Given the description of an element on the screen output the (x, y) to click on. 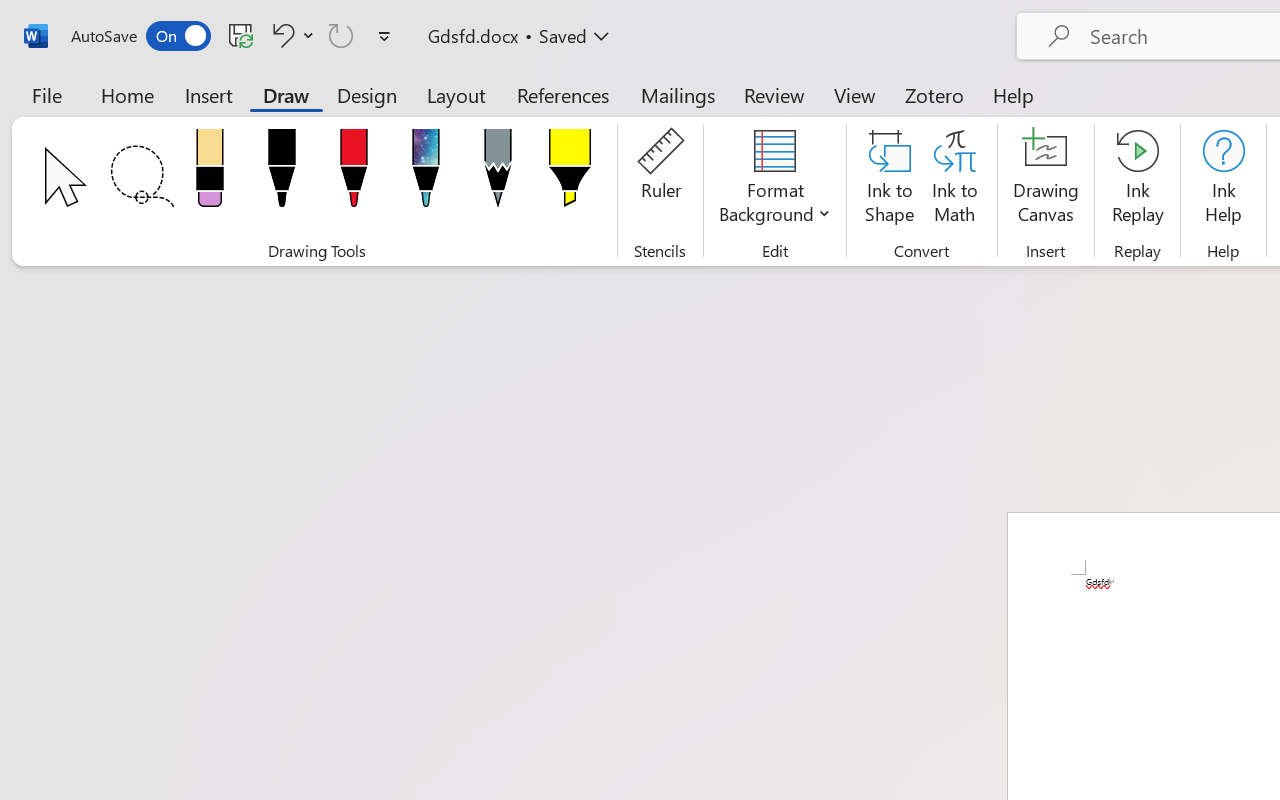
Ink to Shape (889, 179)
Undo Apply Quick Style (290, 35)
Highlighter: Yellow, 6 mm (569, 173)
Ink Replay (1137, 179)
Format Background (774, 179)
Ink Help (1223, 179)
Ink to Math (954, 179)
